Given the description of an element on the screen output the (x, y) to click on. 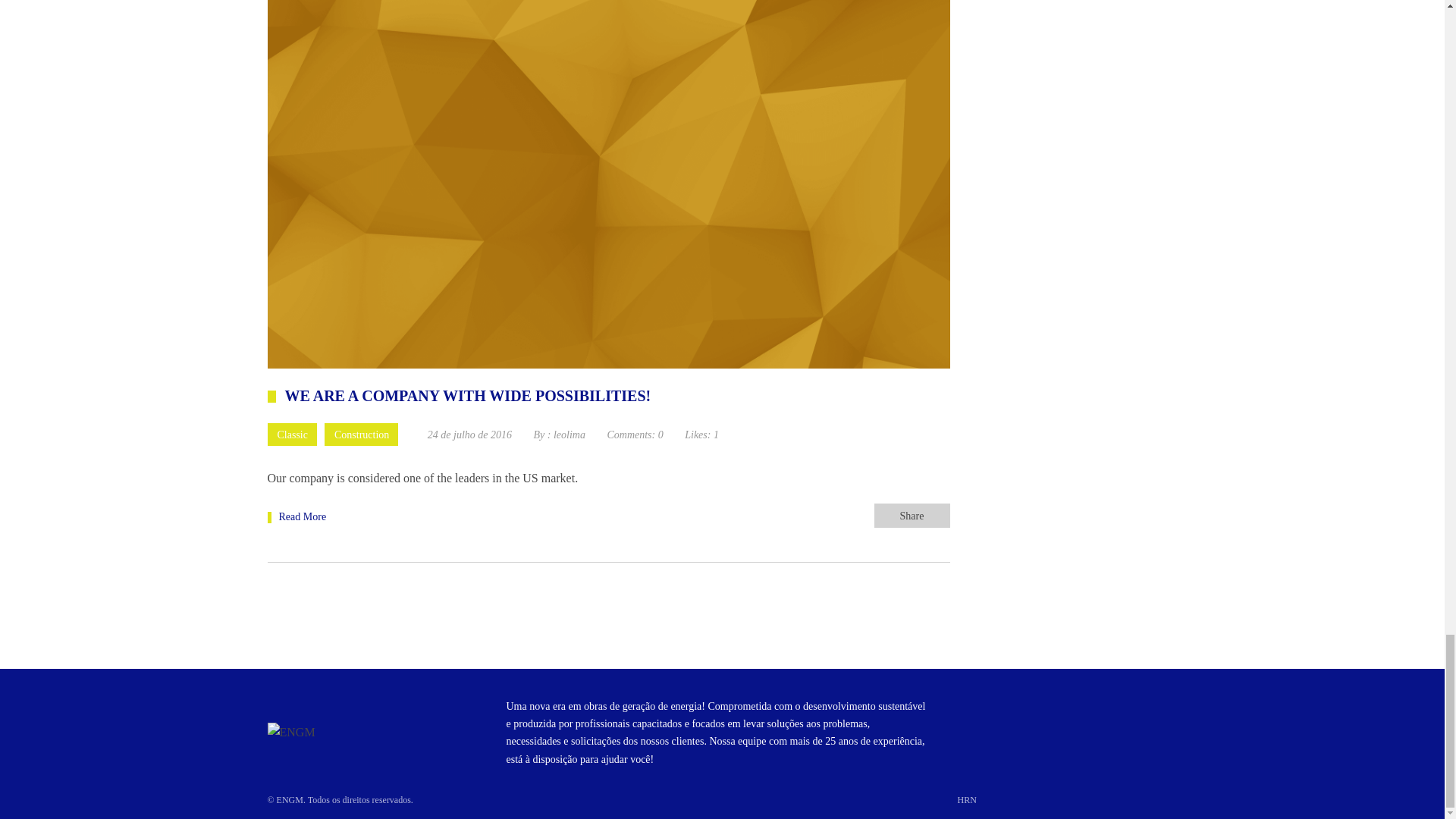
Classic (290, 434)
Read More (296, 515)
We are a company with wide possibilities! (296, 515)
Construction (360, 434)
View all posts in Classic (290, 434)
View all posts in Construction (360, 434)
WE ARE A COMPANY WITH WIDE POSSIBILITIES! (458, 396)
